Given the description of an element on the screen output the (x, y) to click on. 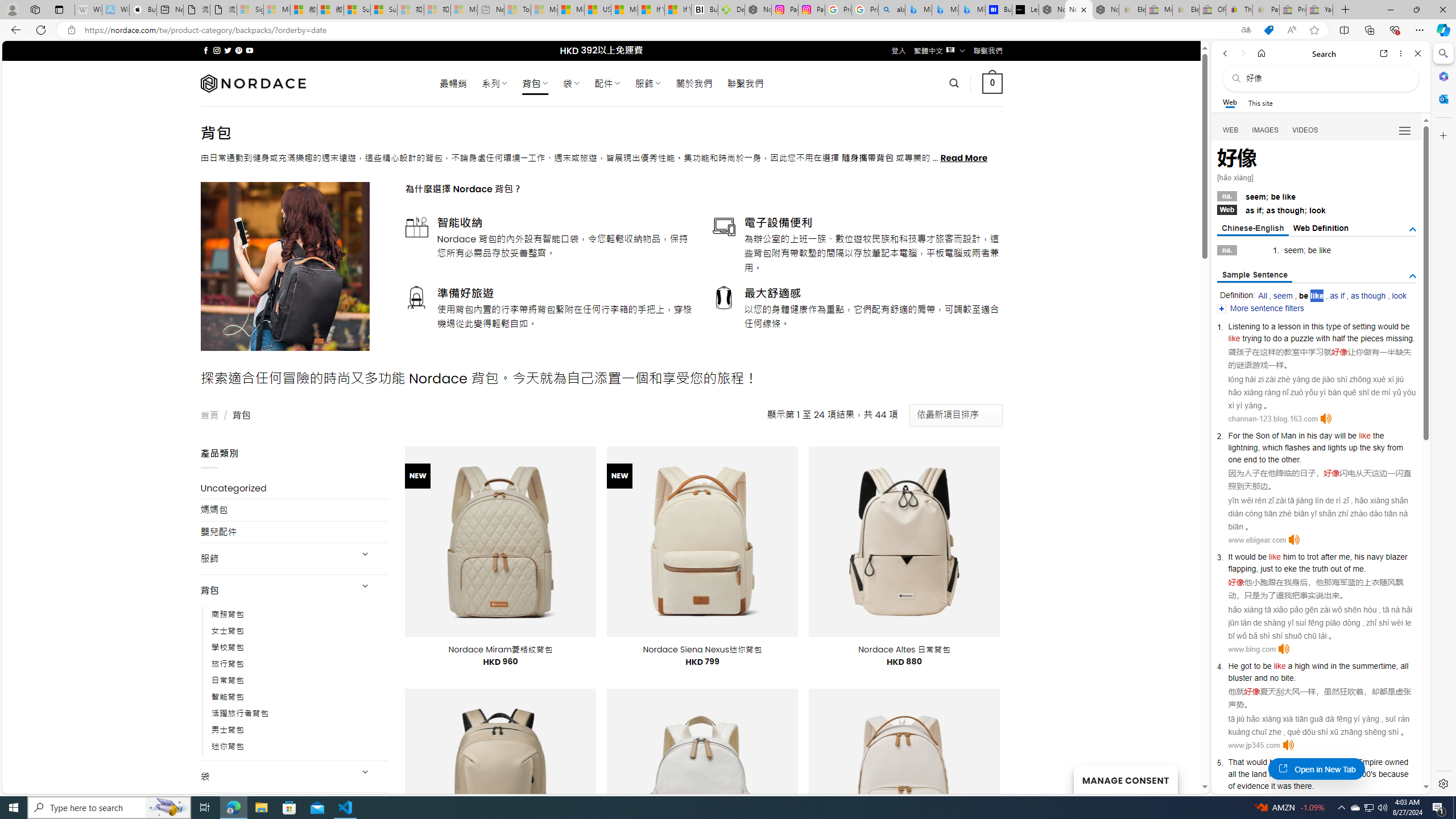
like (1285, 761)
as though (1367, 295)
summertime (1374, 665)
This site has coupons! Shopping in Microsoft Edge (1268, 29)
alabama high school quarterback dies - Search (891, 9)
Follow on Instagram (216, 50)
Top Stories - MSN - Sleeping (517, 9)
look (1398, 295)
